Given the description of an element on the screen output the (x, y) to click on. 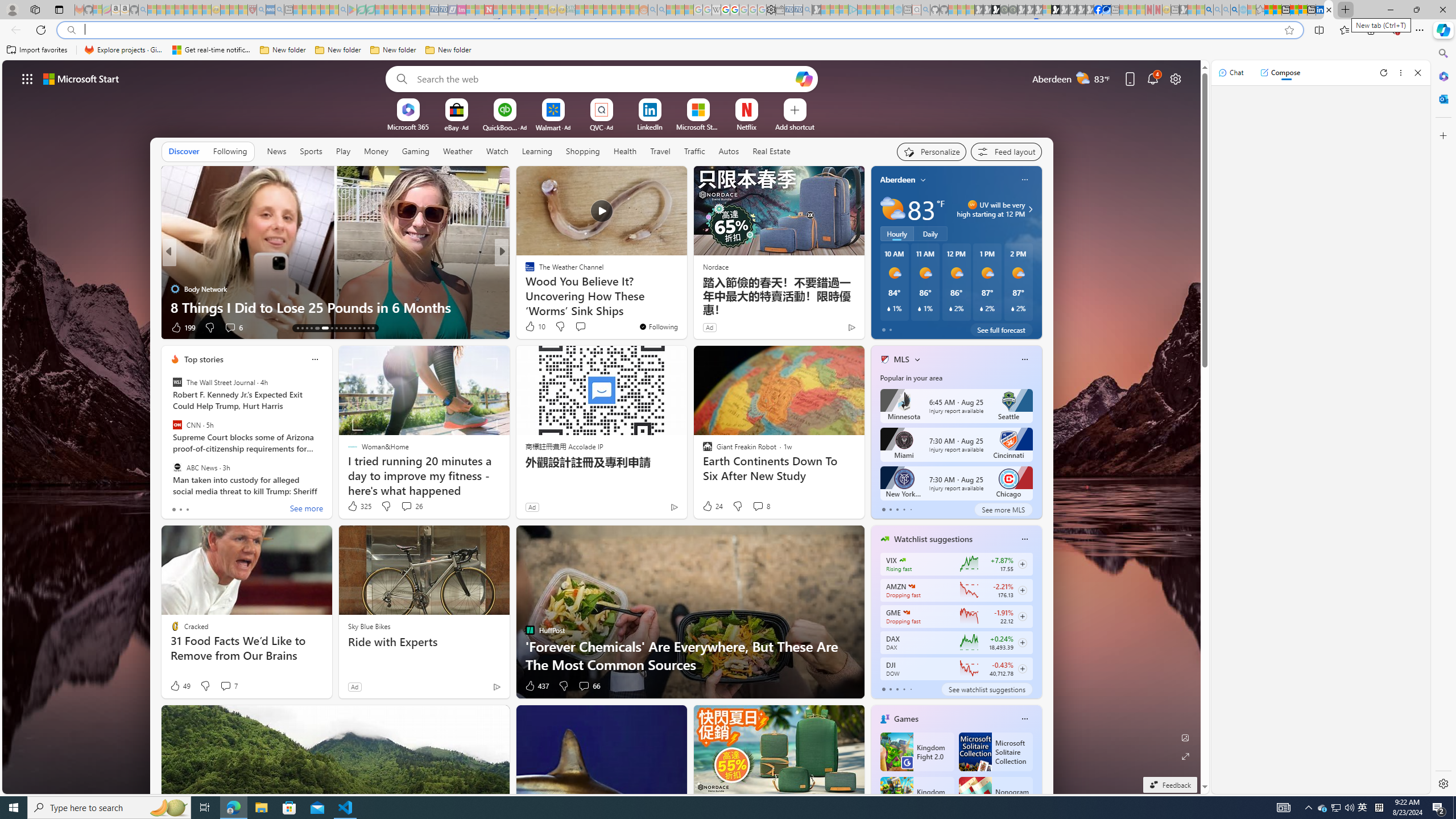
Body Network (174, 288)
Lifewire (524, 288)
Sign in to your account - Sleeping (1046, 9)
Google Chrome Internet Browser Download - Search Images (1234, 9)
AMAZON.COM, INC. (911, 586)
AutomationID: tab-19 (331, 328)
76 Like (530, 327)
Kingdom Fight 2.0 (916, 751)
199 Like (182, 327)
Terms of Use Agreement - Sleeping (361, 9)
